Given the description of an element on the screen output the (x, y) to click on. 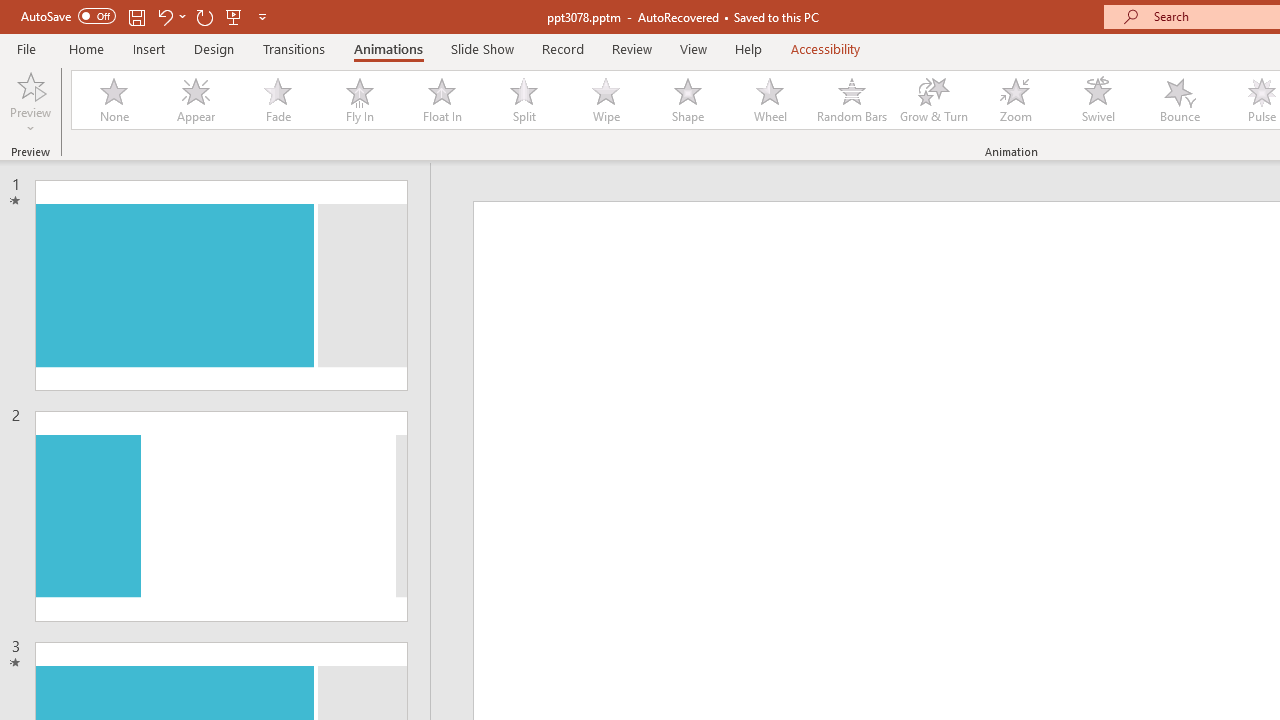
Swivel (1098, 100)
Grow & Turn (934, 100)
Appear (195, 100)
Shape (687, 100)
